Given the description of an element on the screen output the (x, y) to click on. 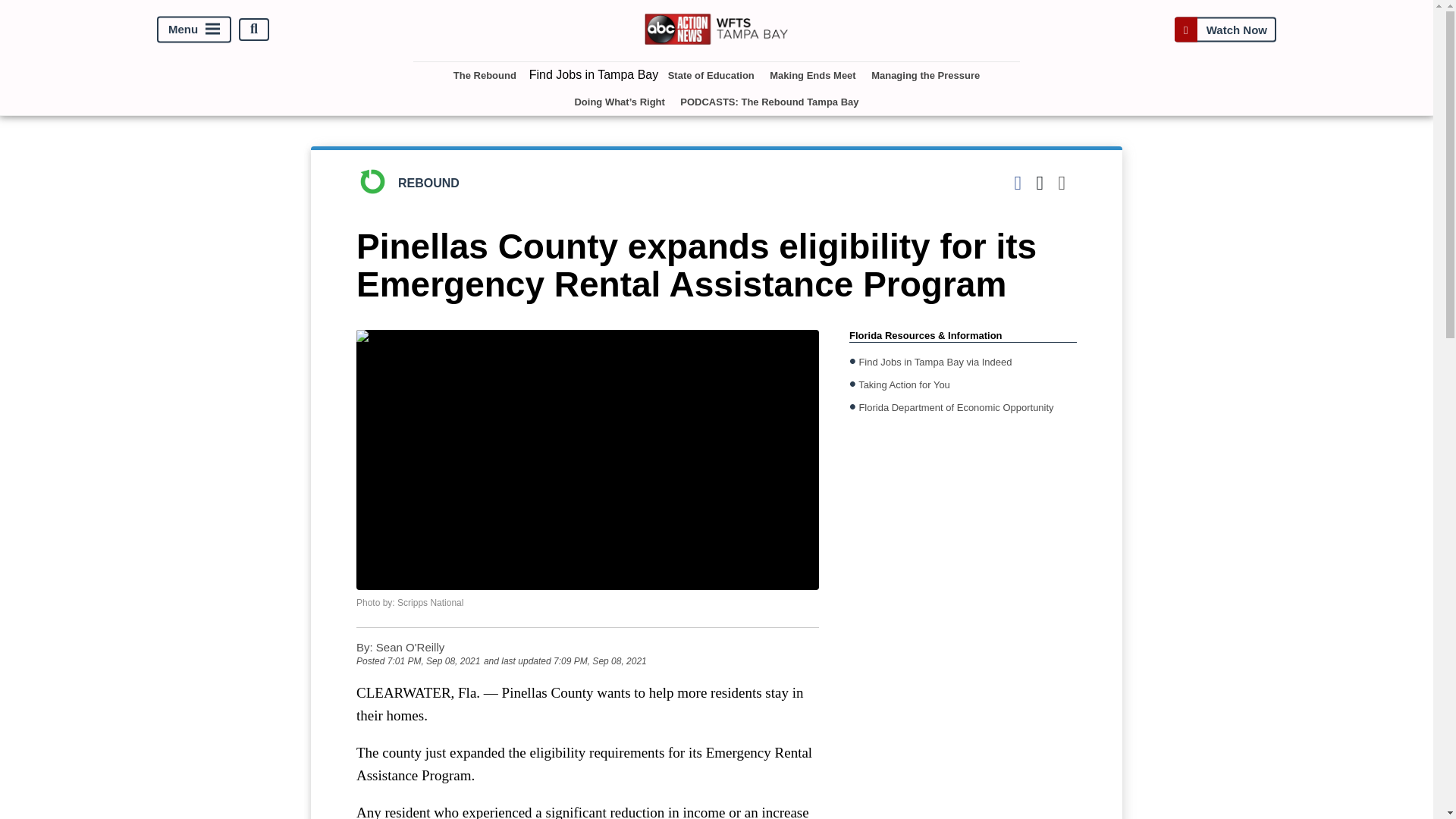
Menu (194, 28)
Watch Now (1224, 29)
